Given the description of an element on the screen output the (x, y) to click on. 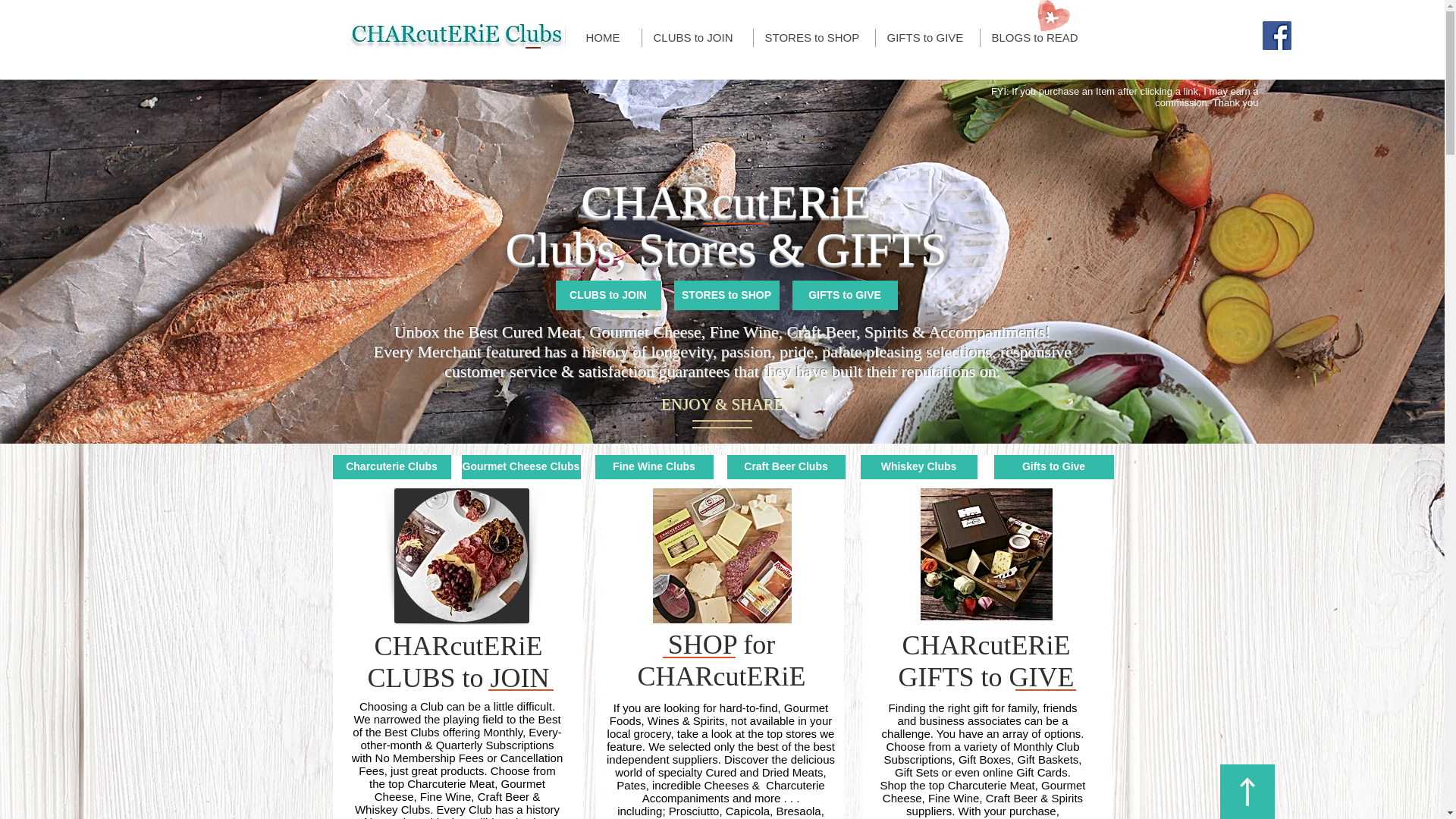
BLOGS to READ (1037, 37)
STORES to SHOP (813, 37)
GIFTS to GIVE (927, 37)
HOME (608, 37)
CLUBS to JOIN (697, 37)
